Given the description of an element on the screen output the (x, y) to click on. 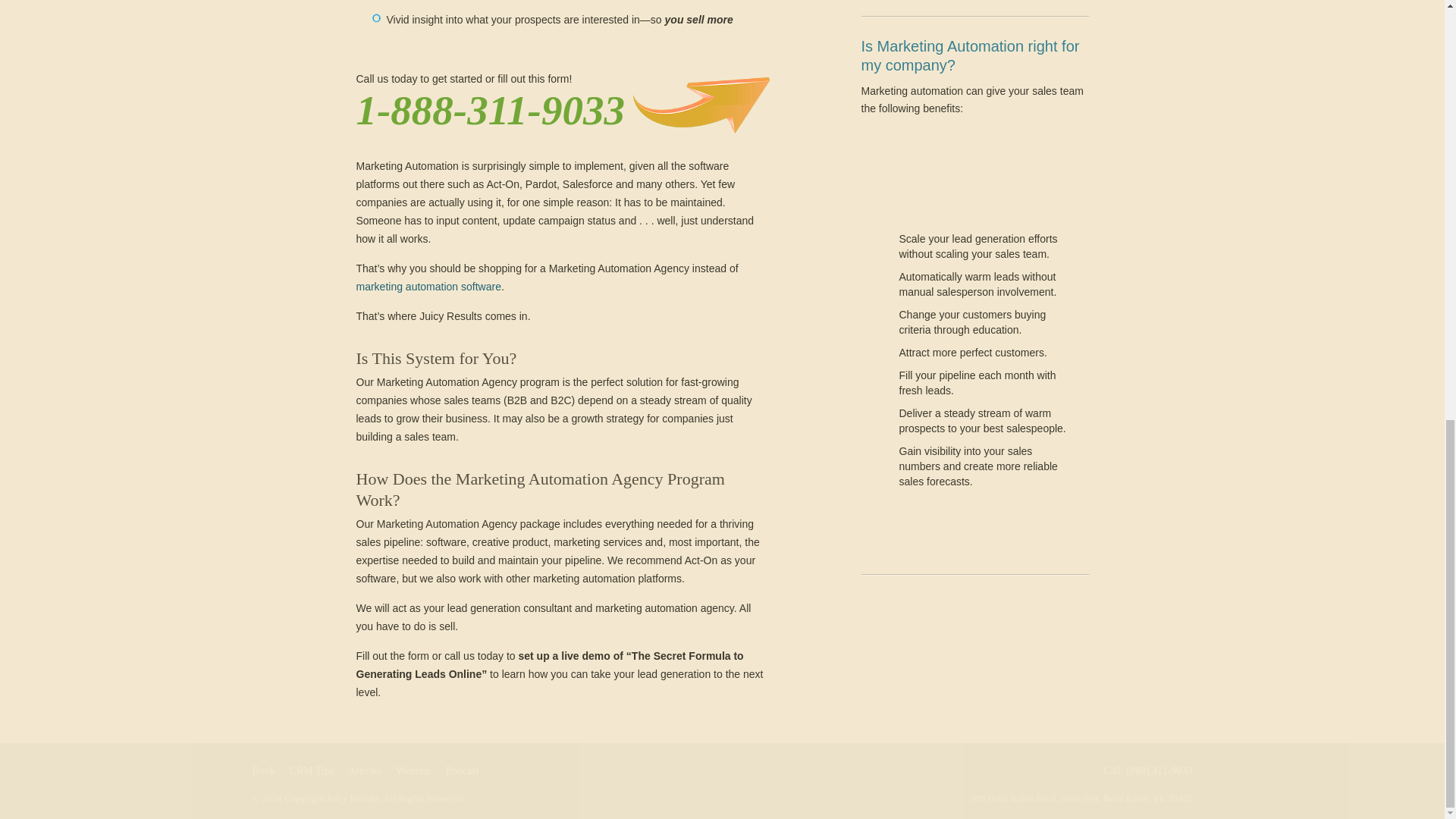
Webinar (413, 770)
Book (263, 770)
CRM Tips (311, 770)
marketing automation software (428, 286)
Podcast (462, 770)
Articles (364, 770)
